Given the description of an element on the screen output the (x, y) to click on. 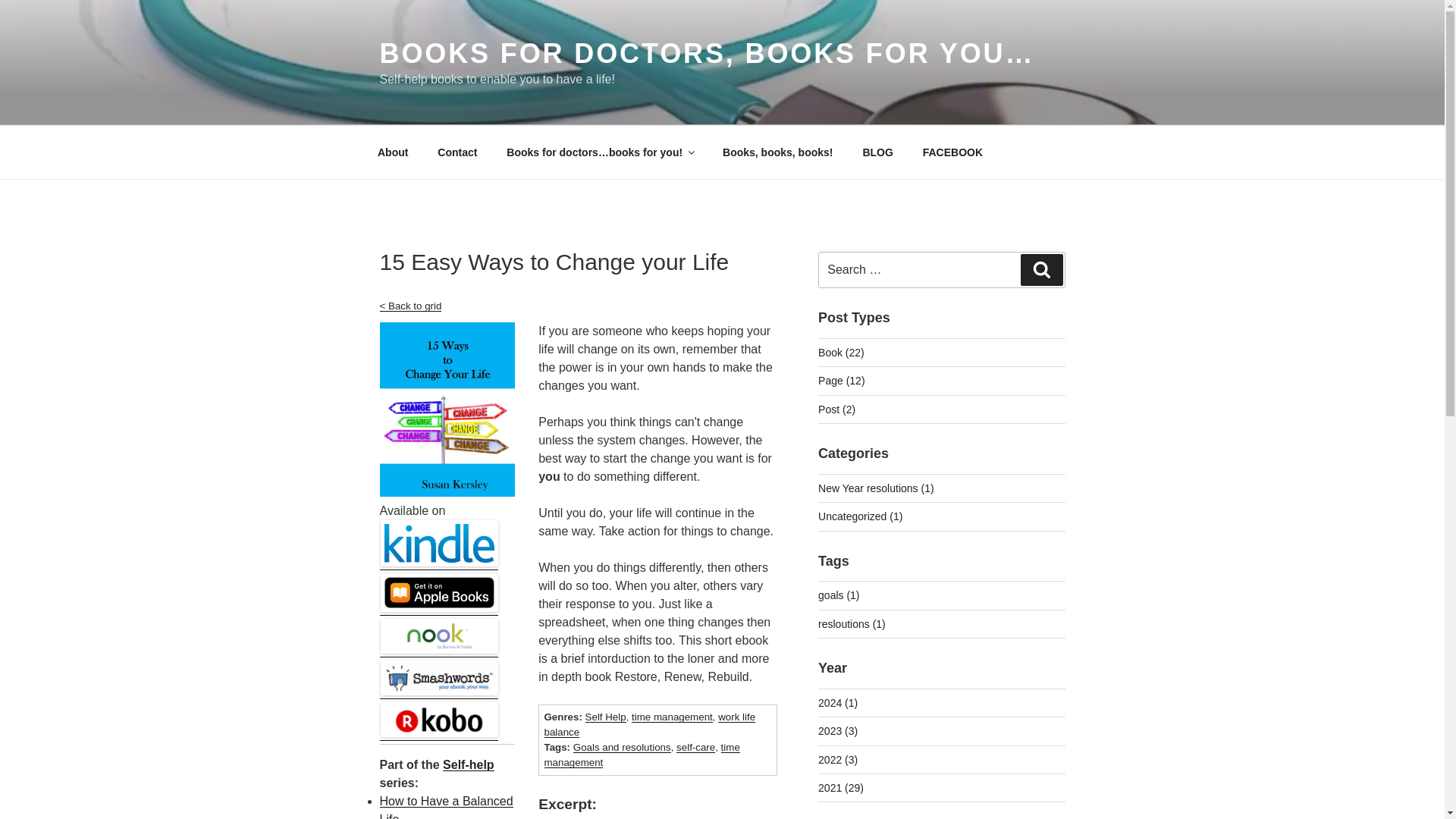
About (392, 151)
Books, books, books! (777, 151)
Contact (457, 151)
time management (641, 755)
FACEBOOK (951, 151)
Self Help (605, 716)
time management (672, 716)
Search (1041, 269)
Goals and resolutions (622, 747)
How to Have a Balanced Life (445, 806)
